Given the description of an element on the screen output the (x, y) to click on. 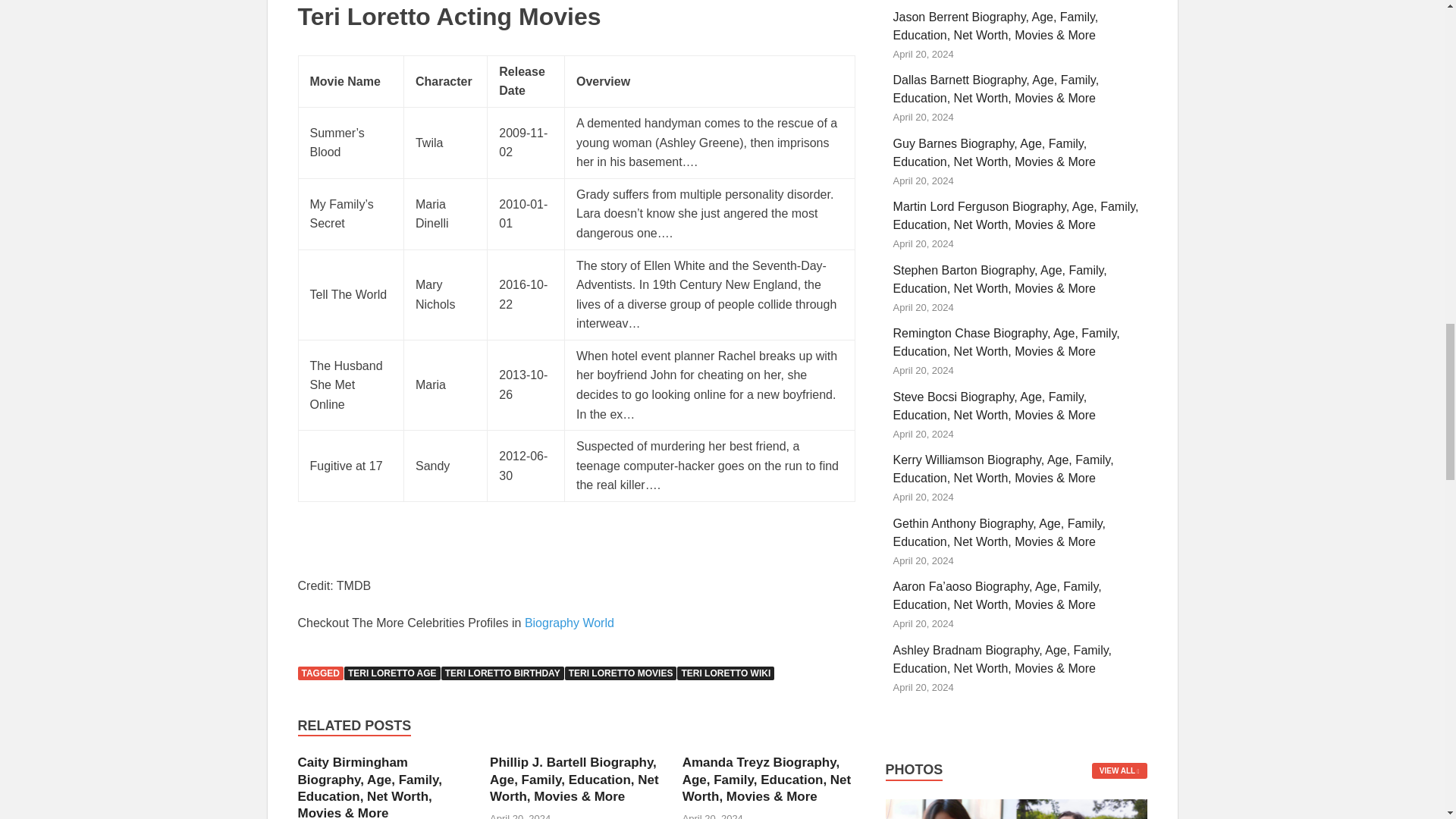
TERI LORETTO BIRTHDAY (502, 673)
TERI LORETTO AGE (392, 673)
Biography World (569, 622)
TERI LORETTO MOVIES (620, 673)
